Given the description of an element on the screen output the (x, y) to click on. 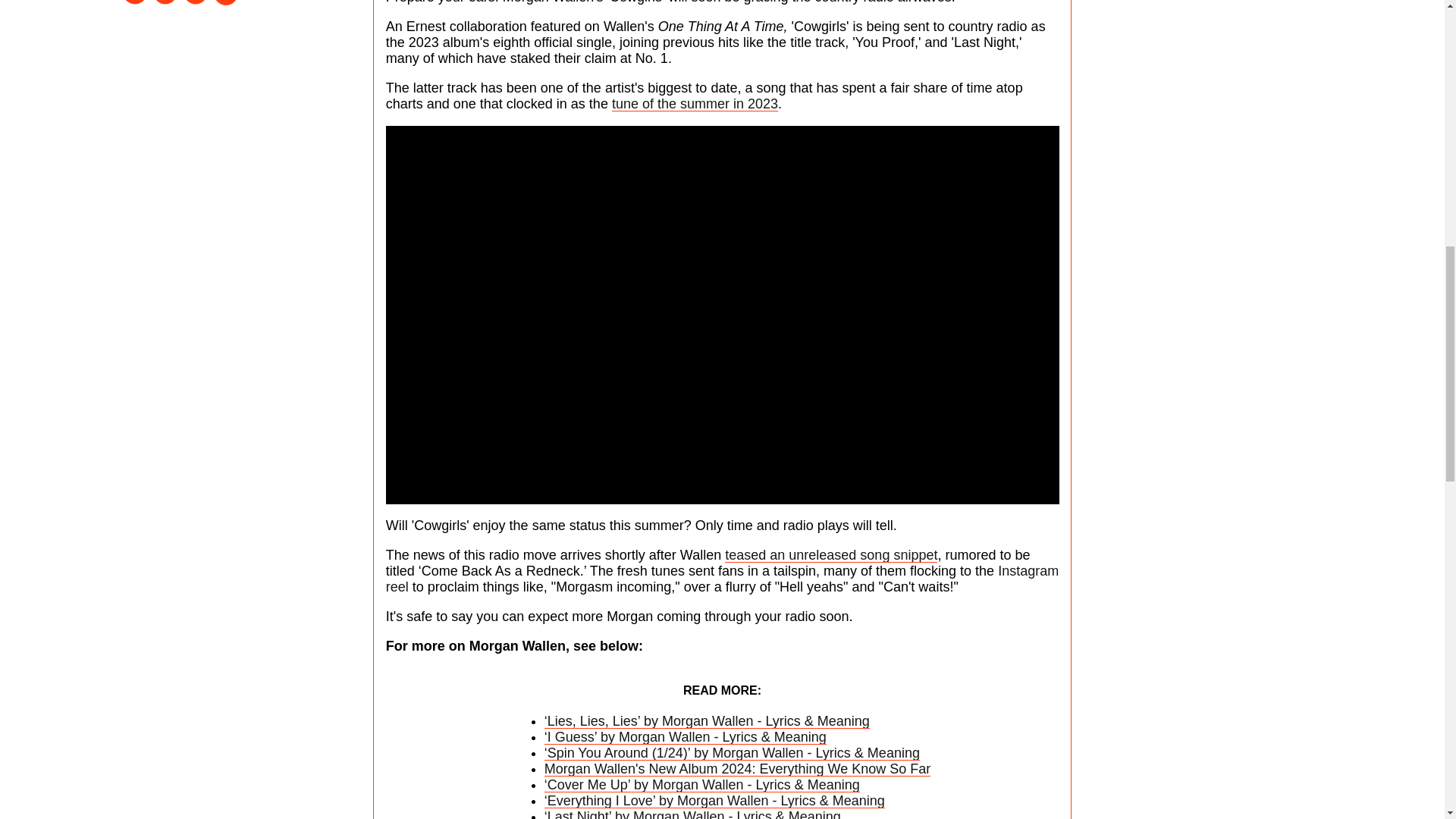
teased an unreleased song snippet (831, 554)
Morgan Wallen's New Album 2024: Everything We Know So Far (737, 768)
tune of the summer in 2023 (694, 102)
Instagram reel (721, 578)
